Given the description of an element on the screen output the (x, y) to click on. 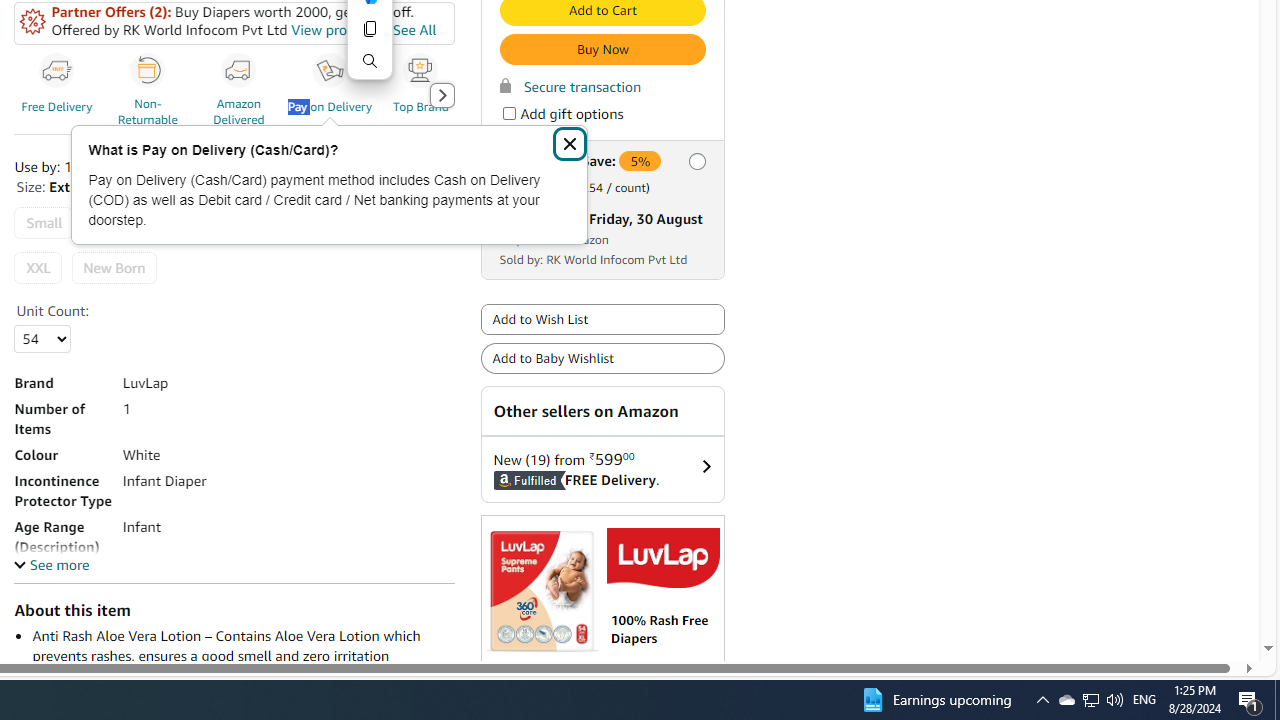
Copy (369, 28)
